Given the description of an element on the screen output the (x, y) to click on. 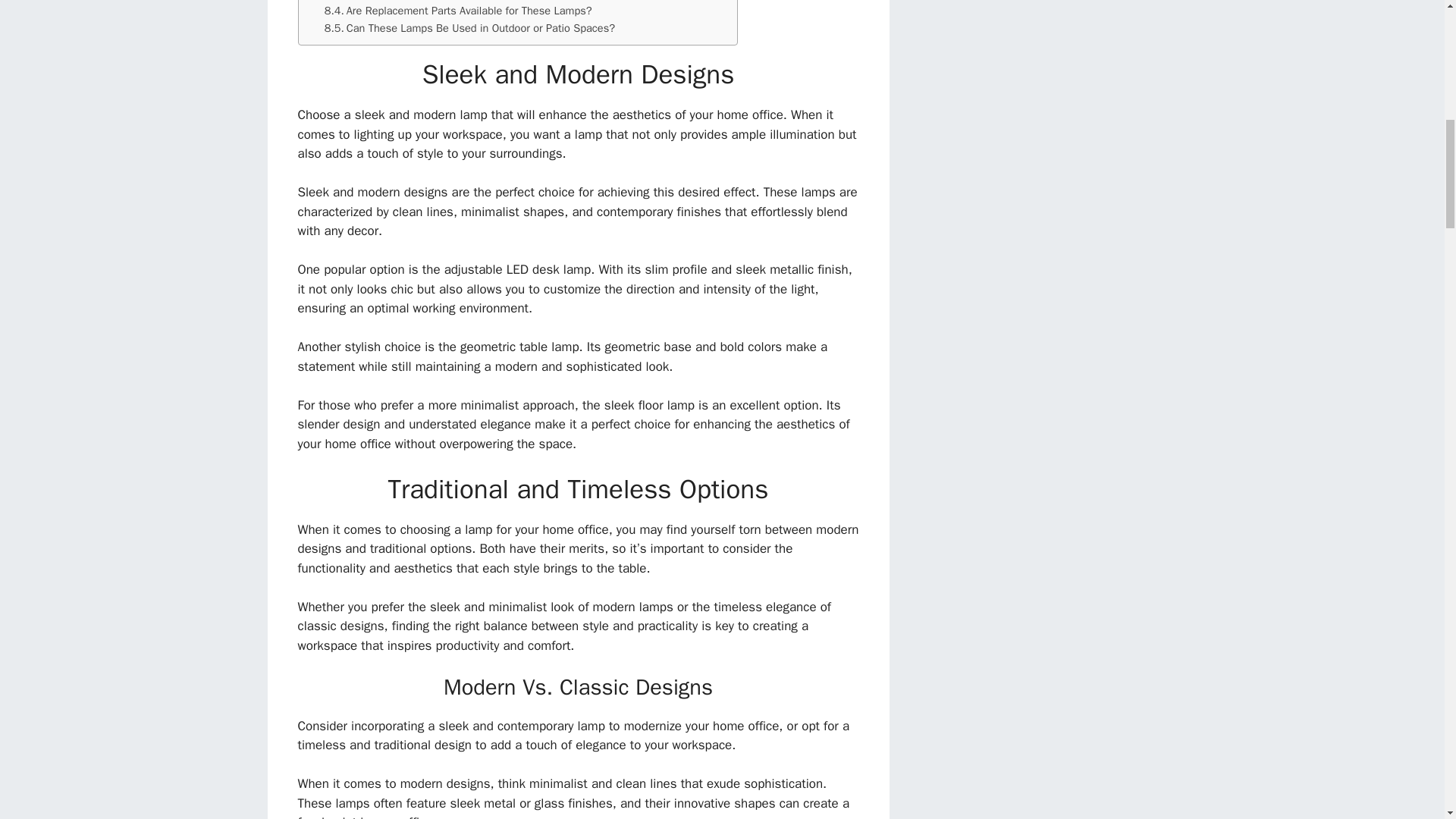
Are Replacement Parts Available for These Lamps? (458, 10)
Can These Lamps Be Used in Outdoor or Patio Spaces? (469, 27)
